Given the description of an element on the screen output the (x, y) to click on. 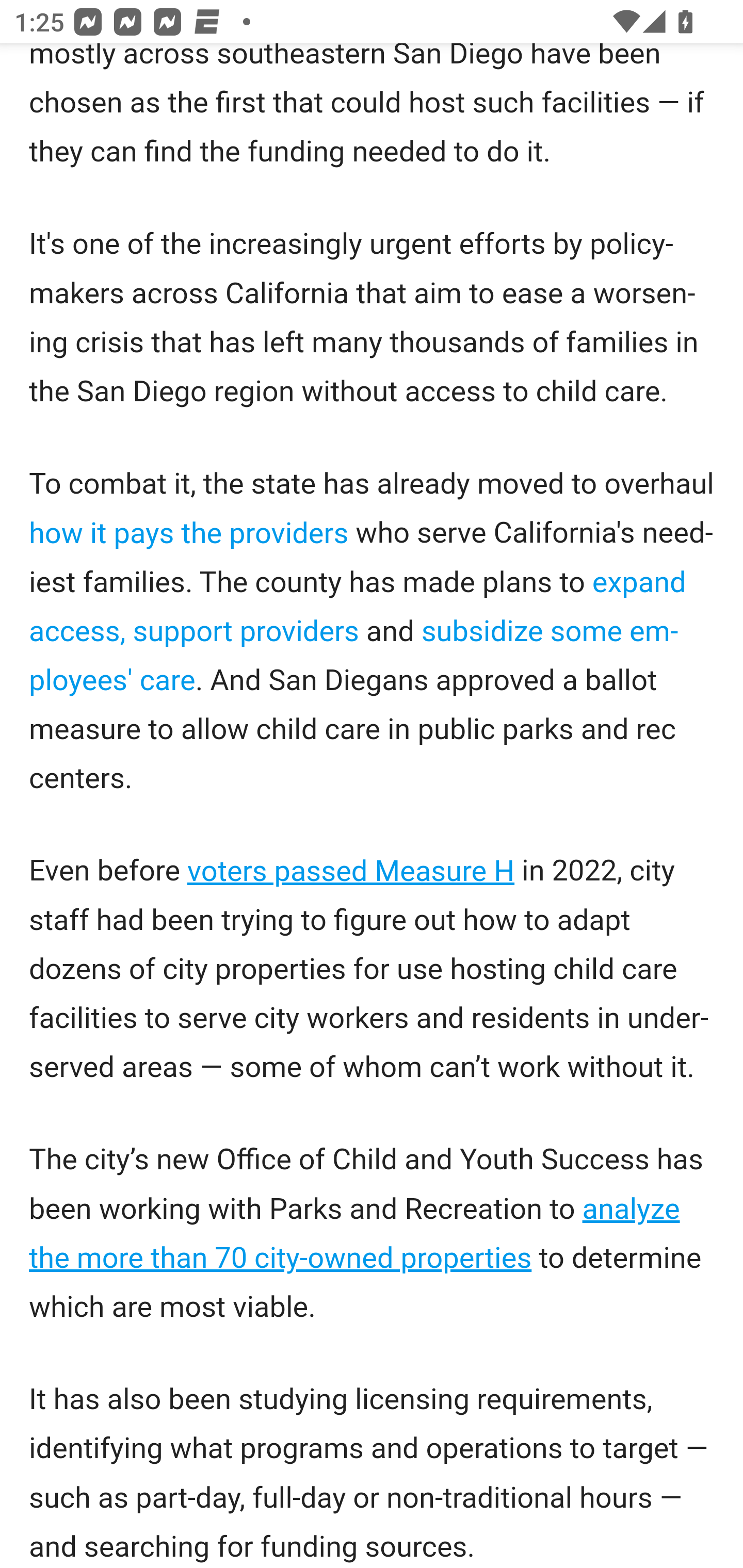
how it pays the providers (189, 534)
expand access, support providers (358, 607)
subsidize some employees' care (353, 656)
voters passed Measure H (350, 871)
analyze the more than 70 city-owned properties (354, 1233)
